Given the description of an element on the screen output the (x, y) to click on. 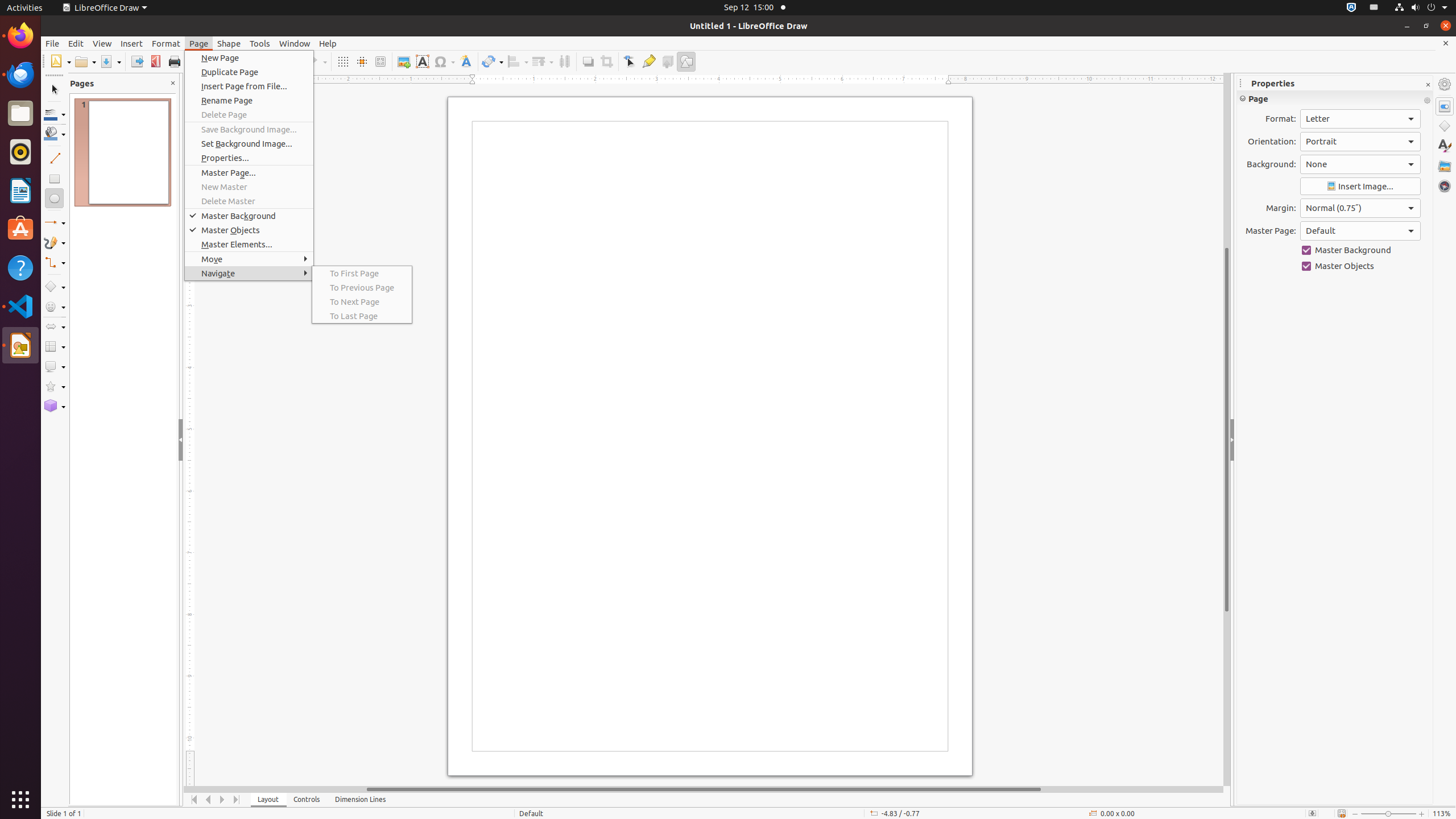
To Last Page Element type: menu-item (361, 315)
Delete Master Element type: menu-item (248, 200)
Duplicate Page Element type: menu-item (248, 71)
Open Element type: push-button (84, 61)
Tools Element type: menu (259, 43)
